Given the description of an element on the screen output the (x, y) to click on. 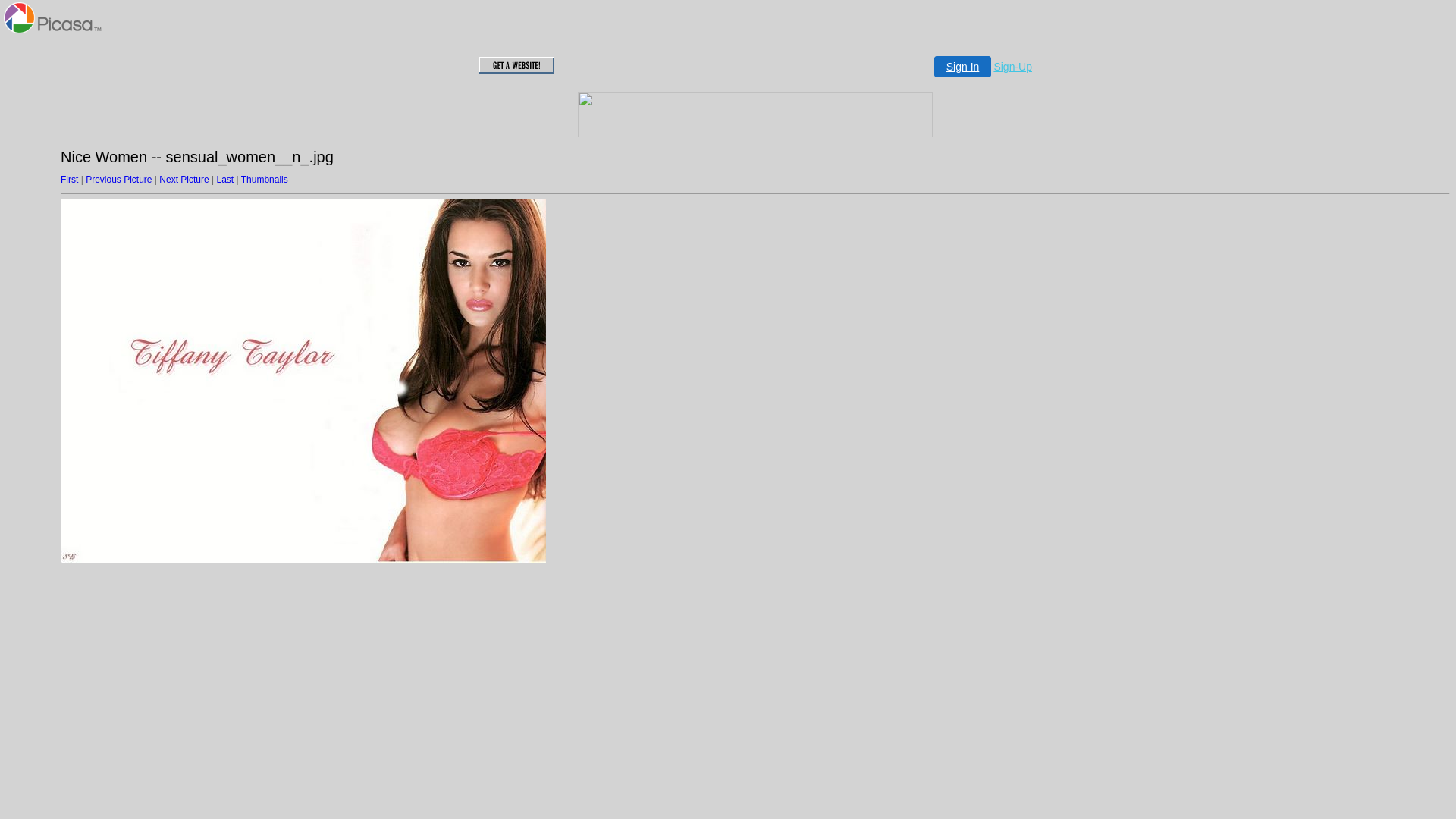
Last Element type: text (224, 179)
Next Picture Element type: text (183, 179)
Previous Picture Element type: text (118, 179)
sensual_women__n_.jpg (large) Element type: hover (303, 380)
Thumbnails Element type: text (264, 179)
Sign-Up Element type: text (1012, 66)
First Element type: text (69, 179)
Sign In Element type: text (962, 66)
